Given the description of an element on the screen output the (x, y) to click on. 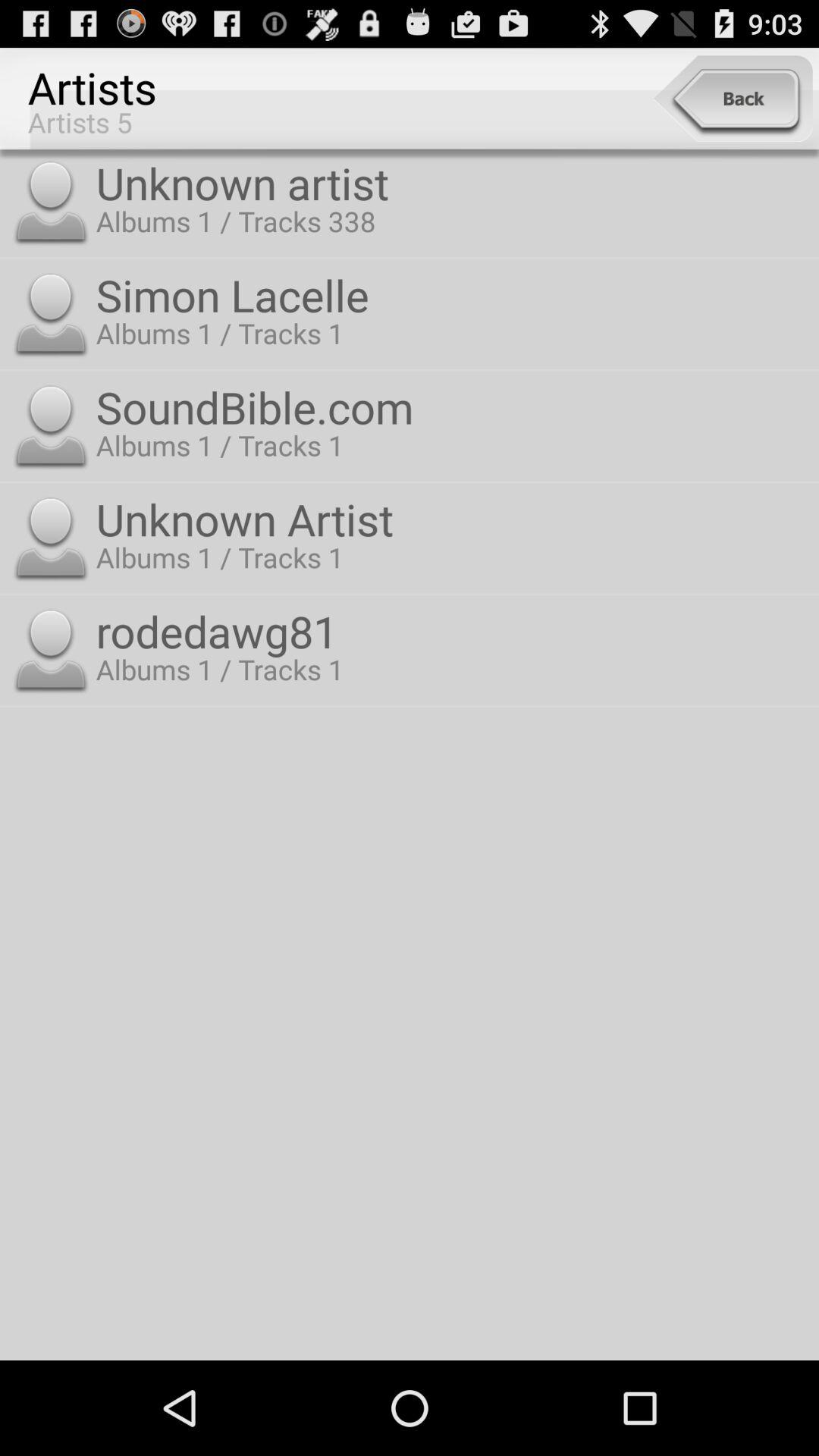
launch the item at the top right corner (732, 98)
